Given the description of an element on the screen output the (x, y) to click on. 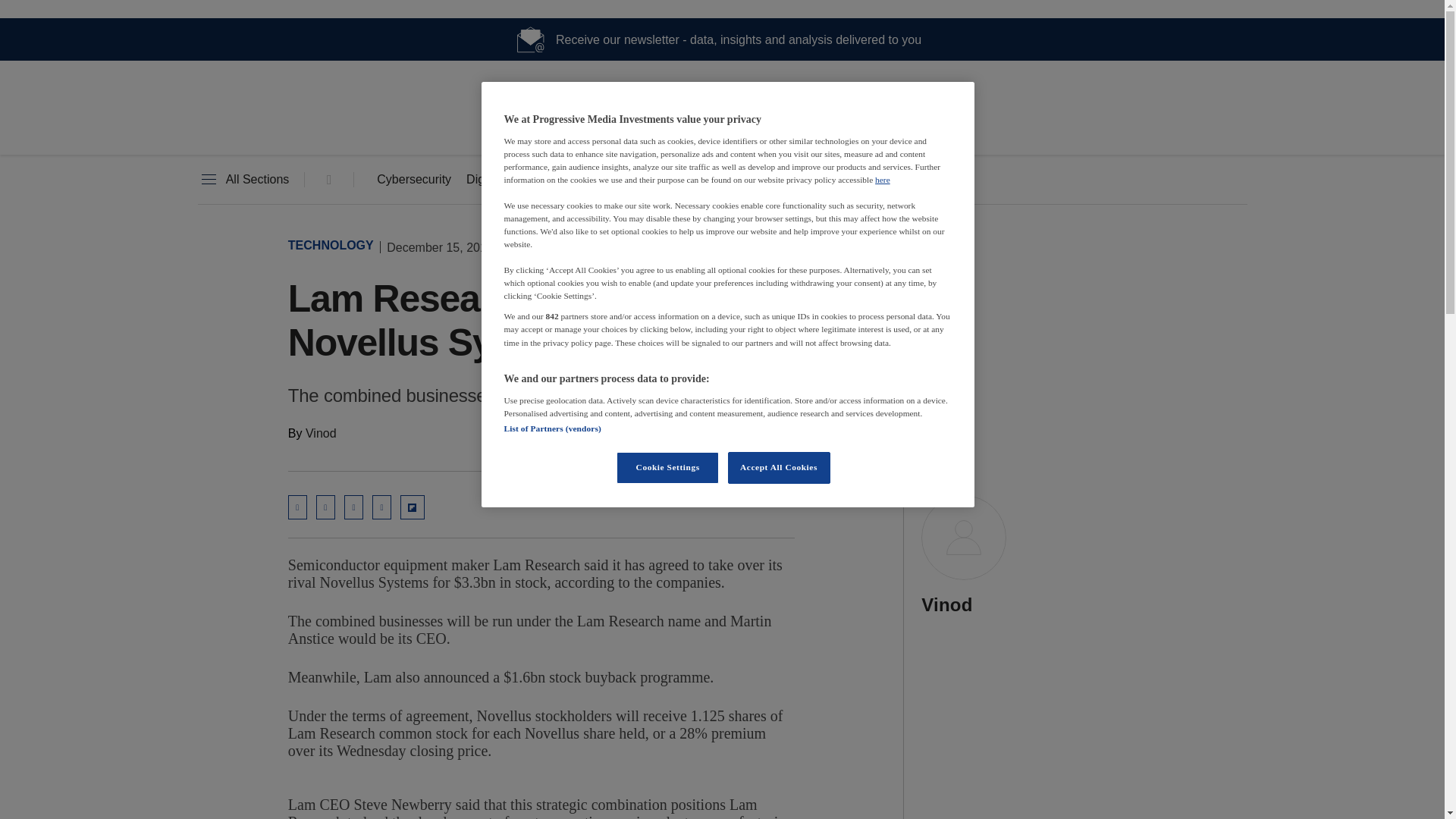
All Sections (242, 179)
Leadership (701, 179)
Hardware (612, 179)
Share on Flipboard (412, 507)
Events (783, 179)
Cybersecurity (414, 179)
Digital economy (509, 179)
Tech Monitor (722, 128)
